Given the description of an element on the screen output the (x, y) to click on. 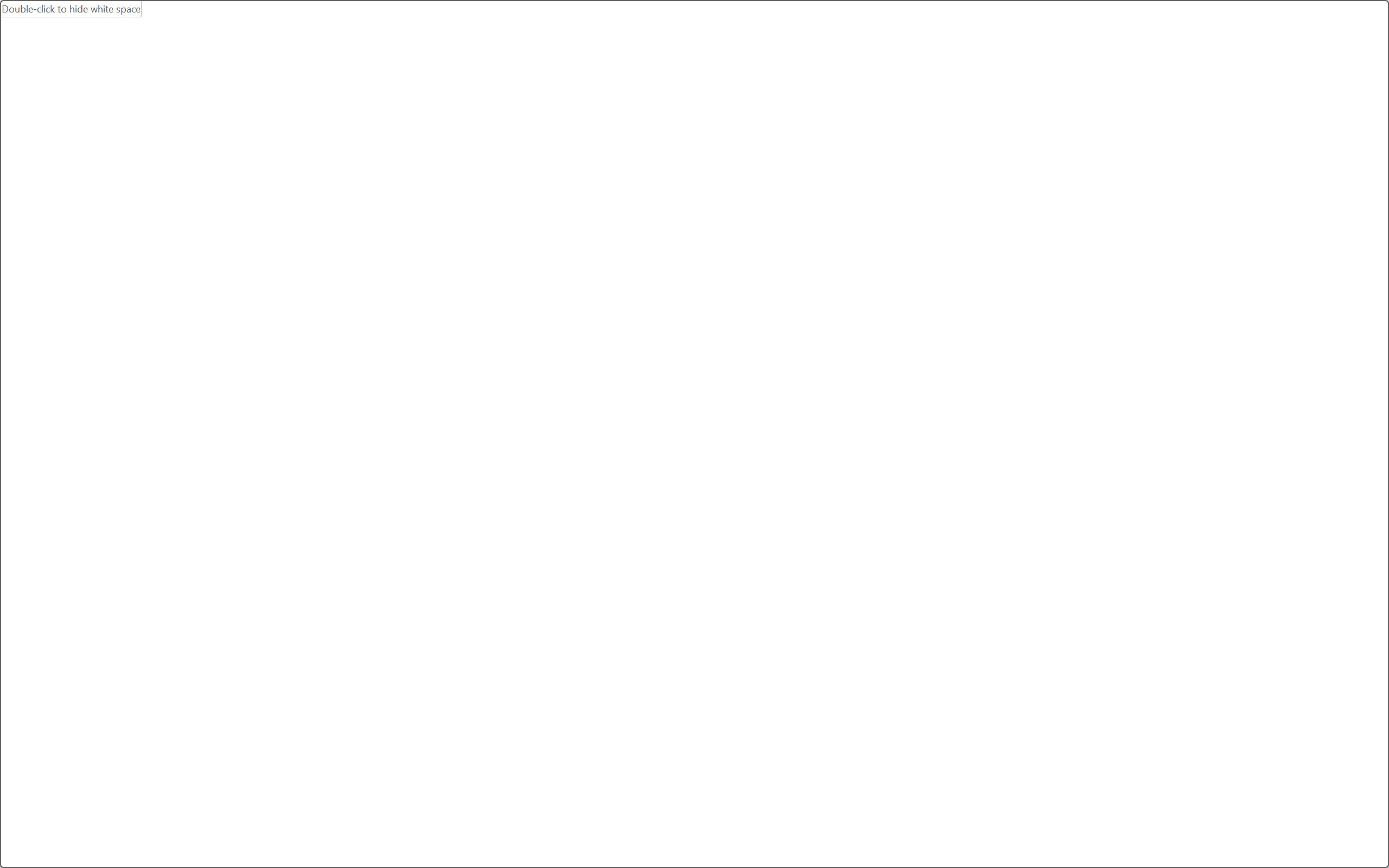
Text Highlight Color (274, 108)
Sun (769, 416)
Cut (60, 75)
Clear Formatting (313, 82)
Show/Hide Editing Marks (595, 82)
Open (215, 82)
